Given the description of an element on the screen output the (x, y) to click on. 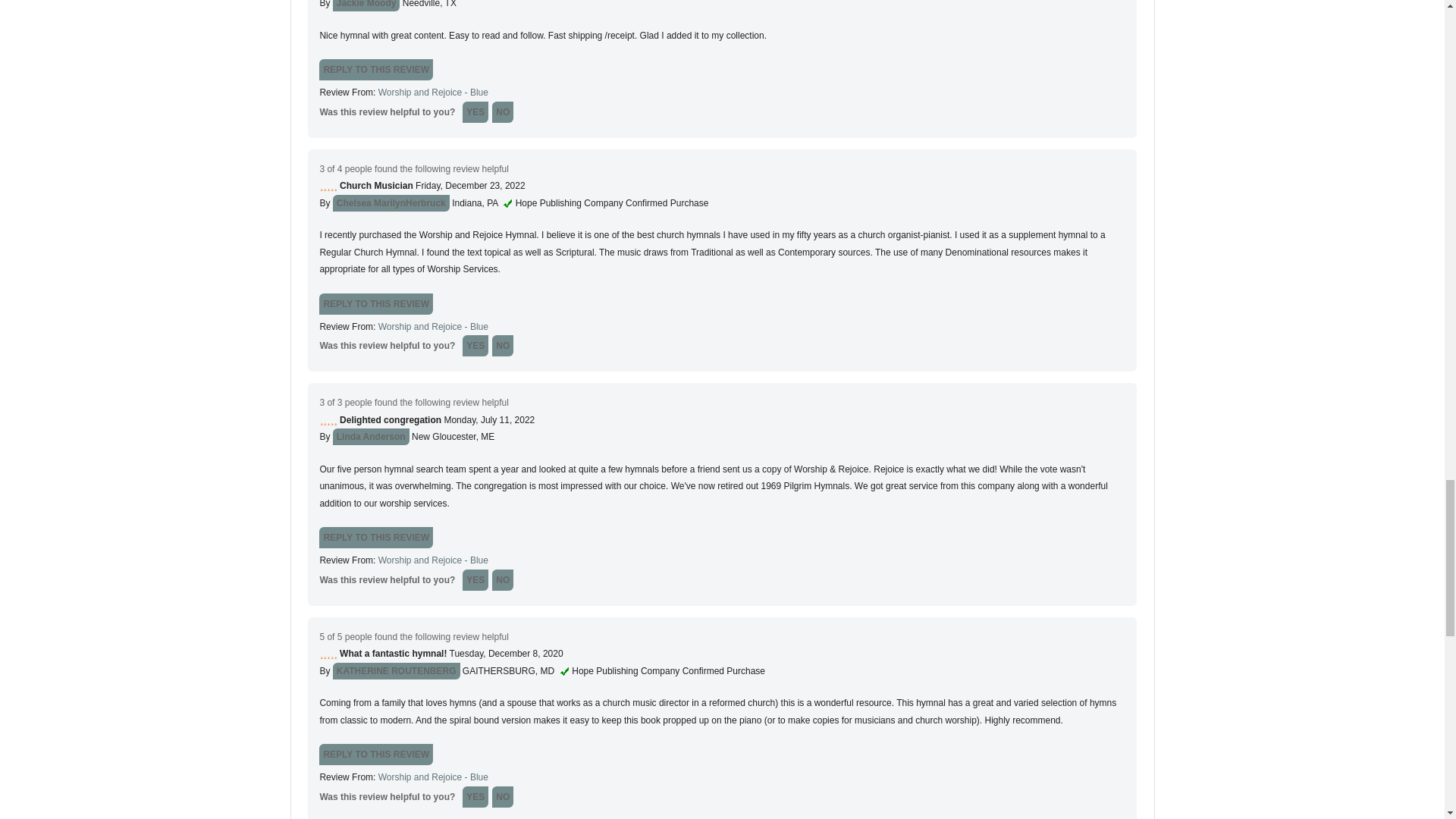
Jackie Moody (366, 5)
NO (502, 111)
YES (475, 111)
Reply to this review (375, 69)
